Given the description of an element on the screen output the (x, y) to click on. 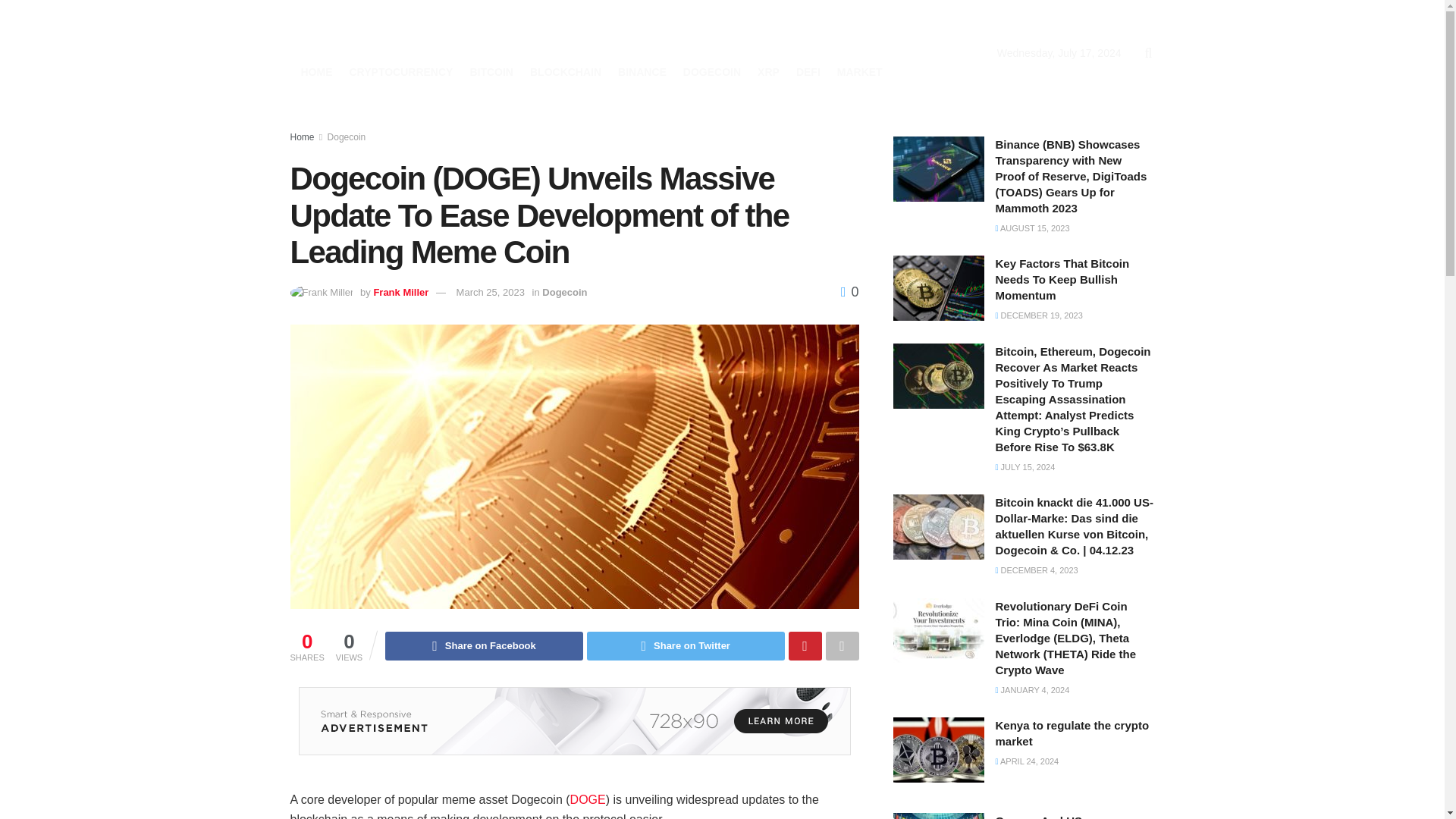
HOME (315, 71)
DOGECOIN (711, 71)
DOGE (587, 799)
March 25, 2023 (490, 292)
Dogecoin (346, 136)
DEFI (808, 71)
DEFI MAGNETS (426, 34)
Share on Facebook (484, 645)
BINANCE (641, 71)
Dogecoin (563, 292)
Share on Twitter (685, 645)
CRYPTOCURRENCY (400, 71)
BITCOIN (490, 71)
0 (850, 291)
MARKET (859, 71)
